Given the description of an element on the screen output the (x, y) to click on. 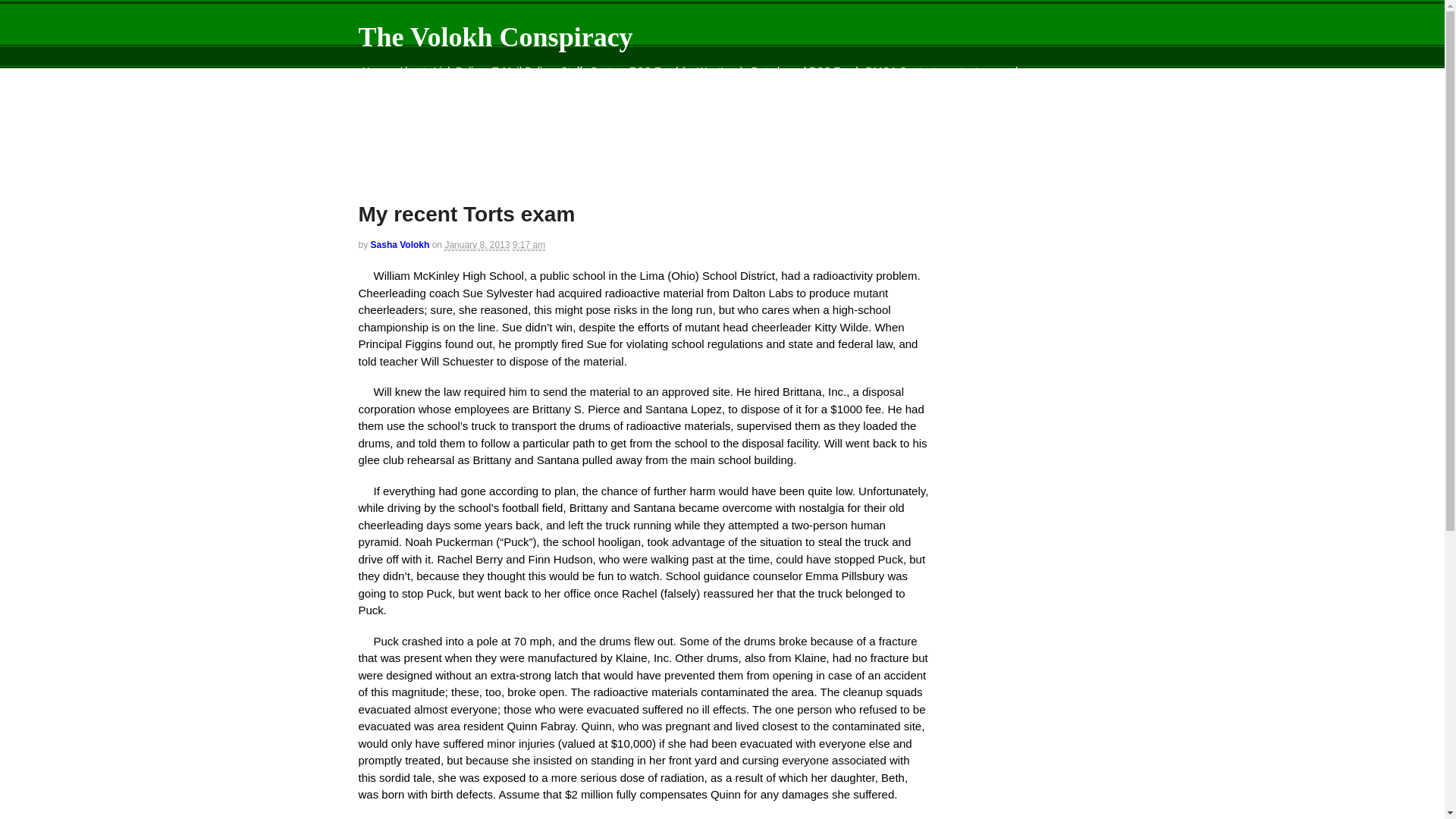
Posts by Sasha Volokh (400, 244)
About (411, 70)
Home (375, 70)
DMCA Contact (900, 70)
Date-based RSS Feed (804, 70)
The Volokh Conspiracy (494, 37)
Link Policy (458, 70)
E-Mail Policy (521, 70)
Sasha Volokh (400, 244)
Move to the Washington Post Site (441, 89)
